Given the description of an element on the screen output the (x, y) to click on. 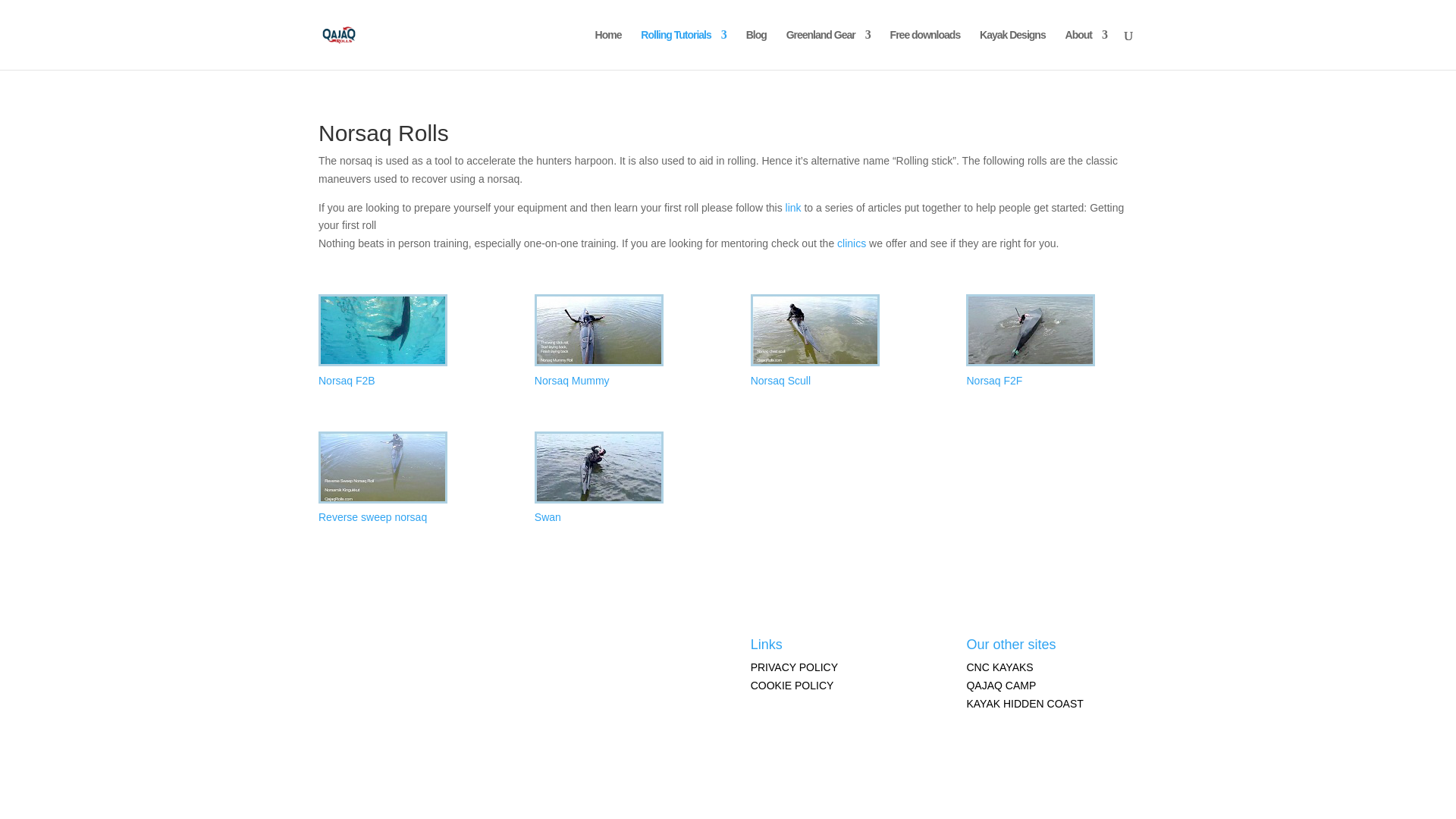
Rolling Tutorials (682, 49)
